Given the description of an element on the screen output the (x, y) to click on. 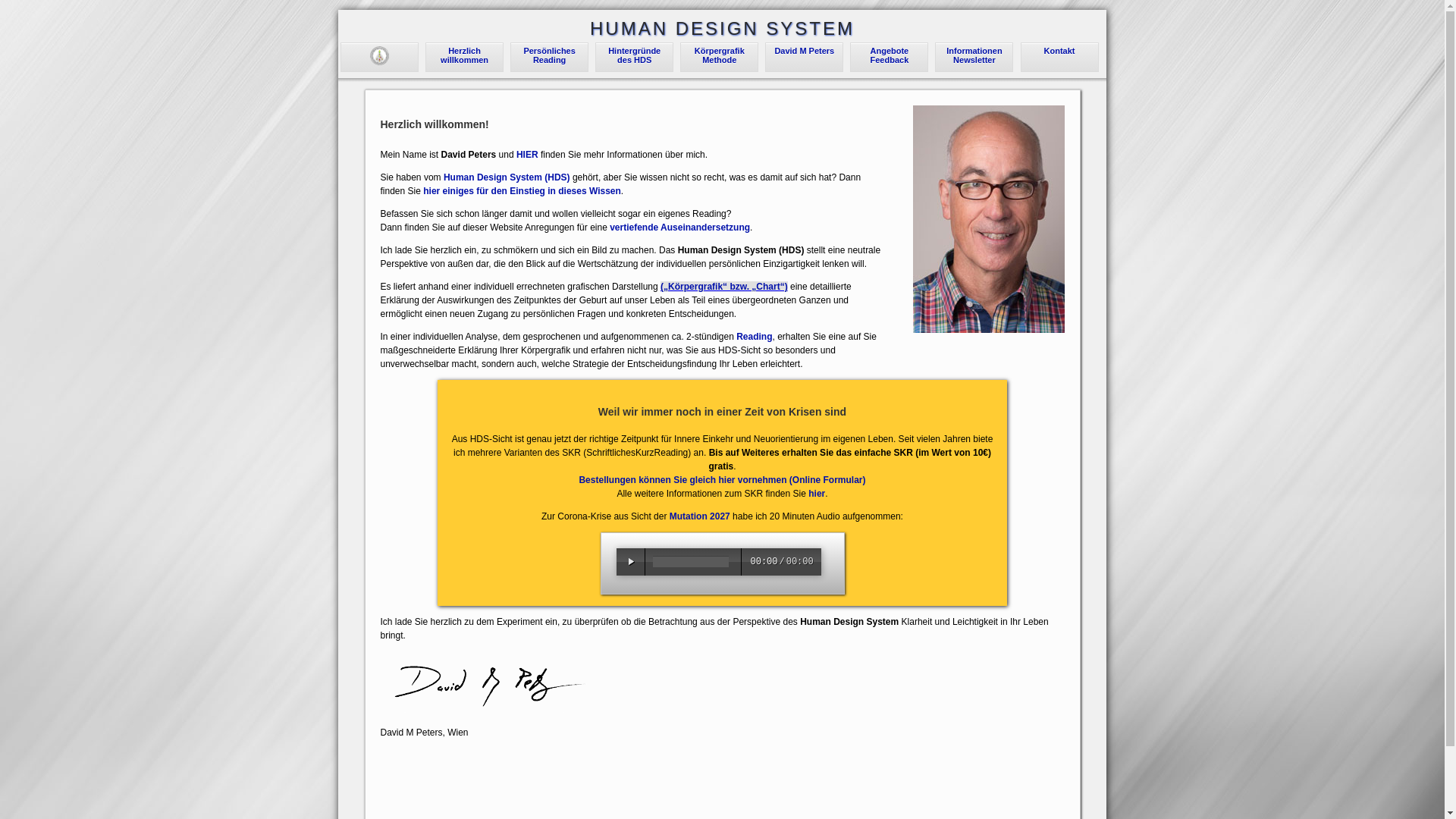
Human Design System (HDS) Element type: text (506, 177)
Mutation 2027 Element type: text (699, 516)
Kontakt Element type: text (1059, 50)
Reading Element type: text (753, 336)
David M Peters Element type: text (804, 50)
vertiefende Auseinandersetzung Element type: text (679, 227)
Angebote
Feedback Element type: text (889, 55)
hier Element type: text (816, 493)
Informationen
Newsletter Element type: text (973, 55)
Herzlich
willkommen Element type: text (464, 55)
HIER Element type: text (527, 154)
